Given the description of an element on the screen output the (x, y) to click on. 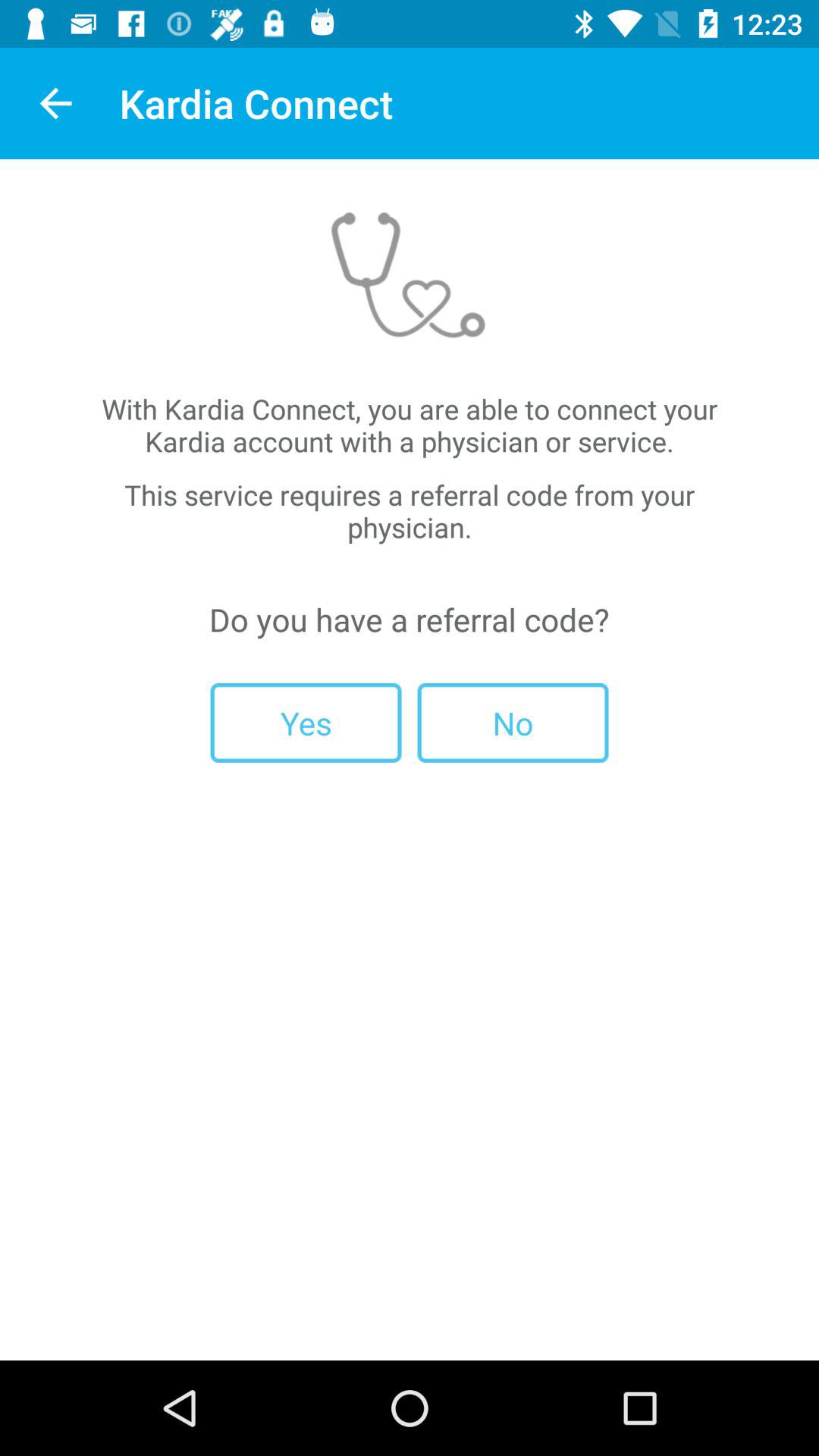
select app to the left of the kardia connect item (55, 103)
